Given the description of an element on the screen output the (x, y) to click on. 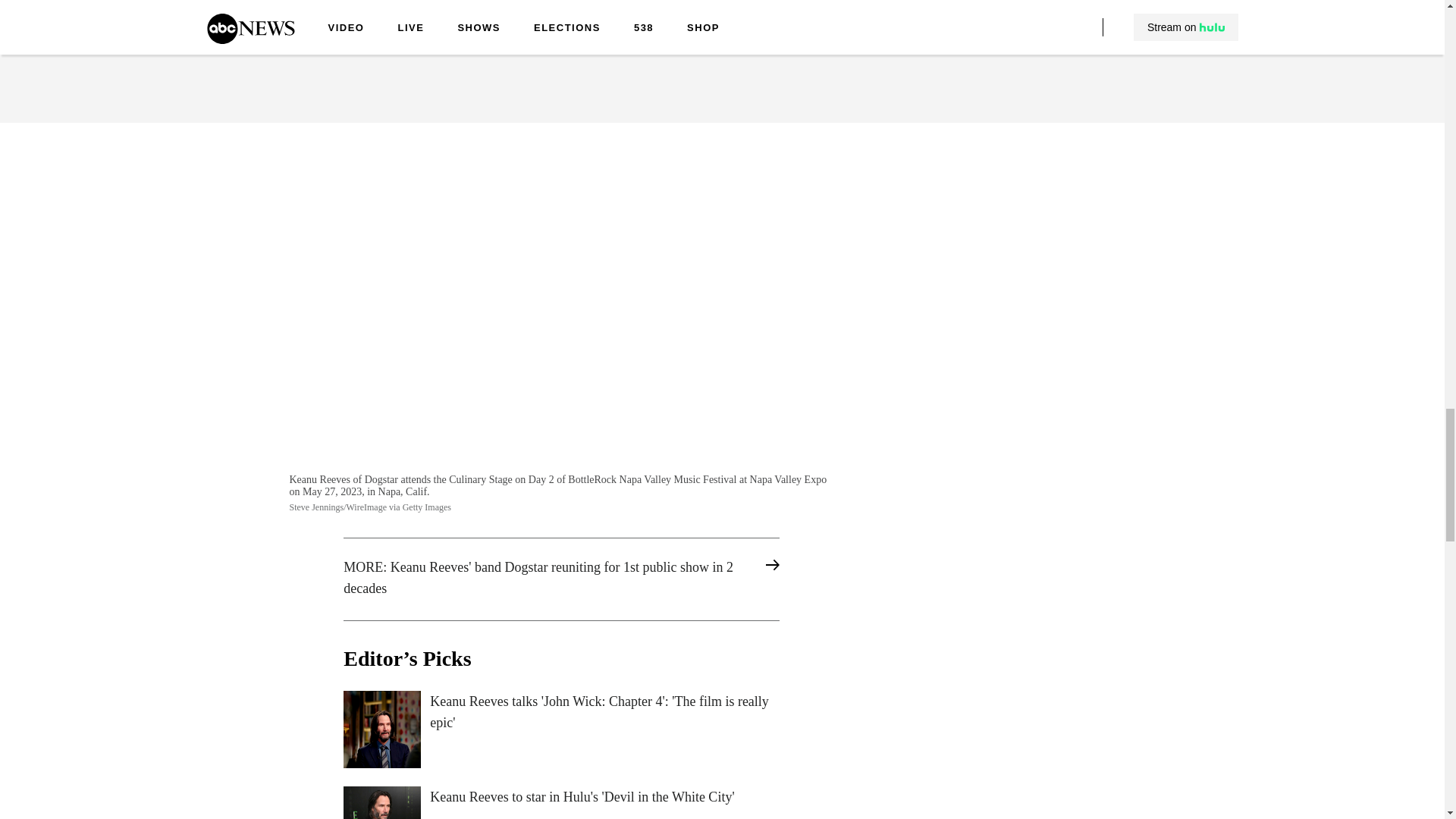
Keanu Reeves to star in Hulu's 'Devil in the White City' (560, 802)
